Given the description of an element on the screen output the (x, y) to click on. 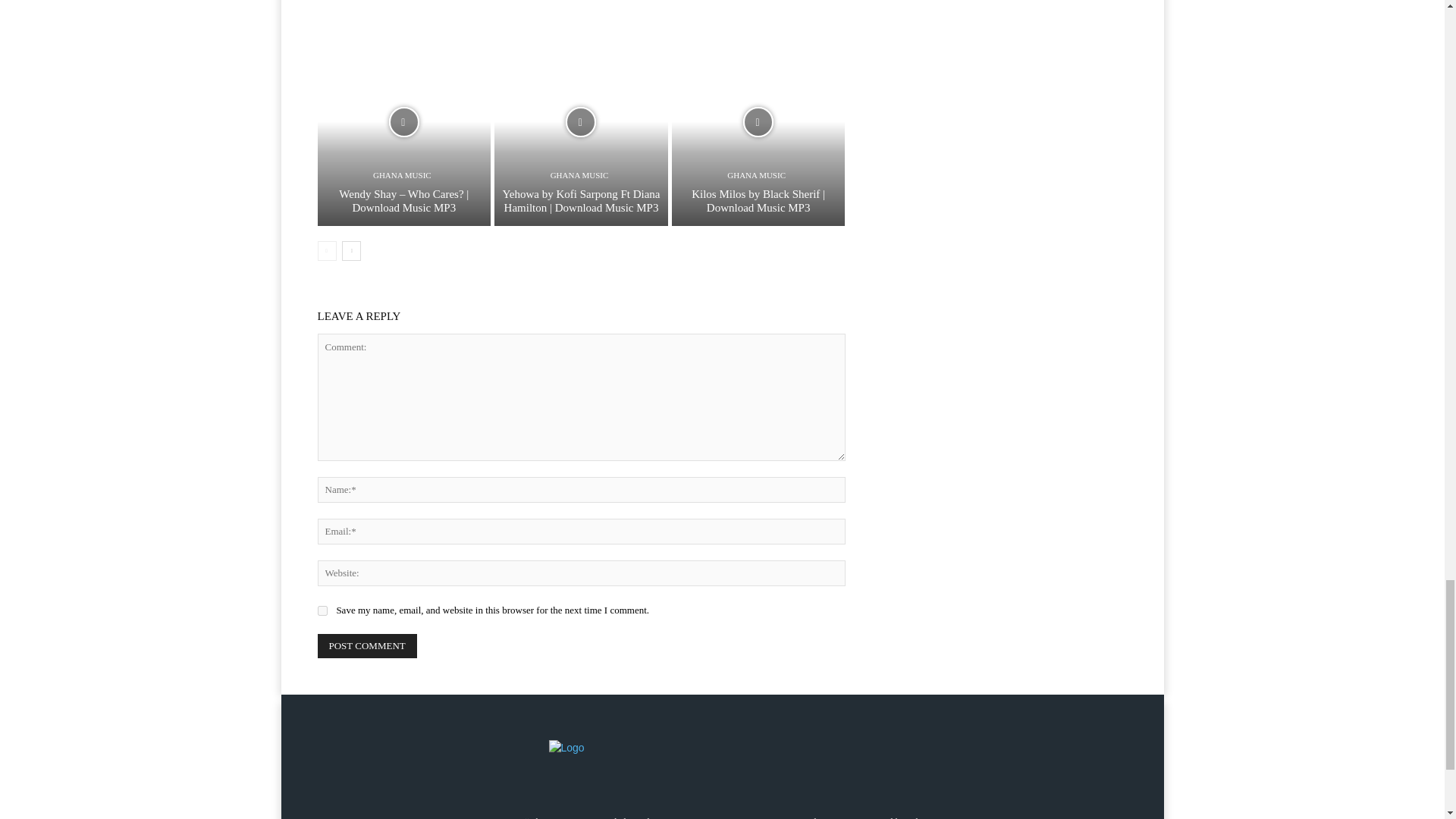
yes (321, 610)
Post Comment (366, 645)
